Given the description of an element on the screen output the (x, y) to click on. 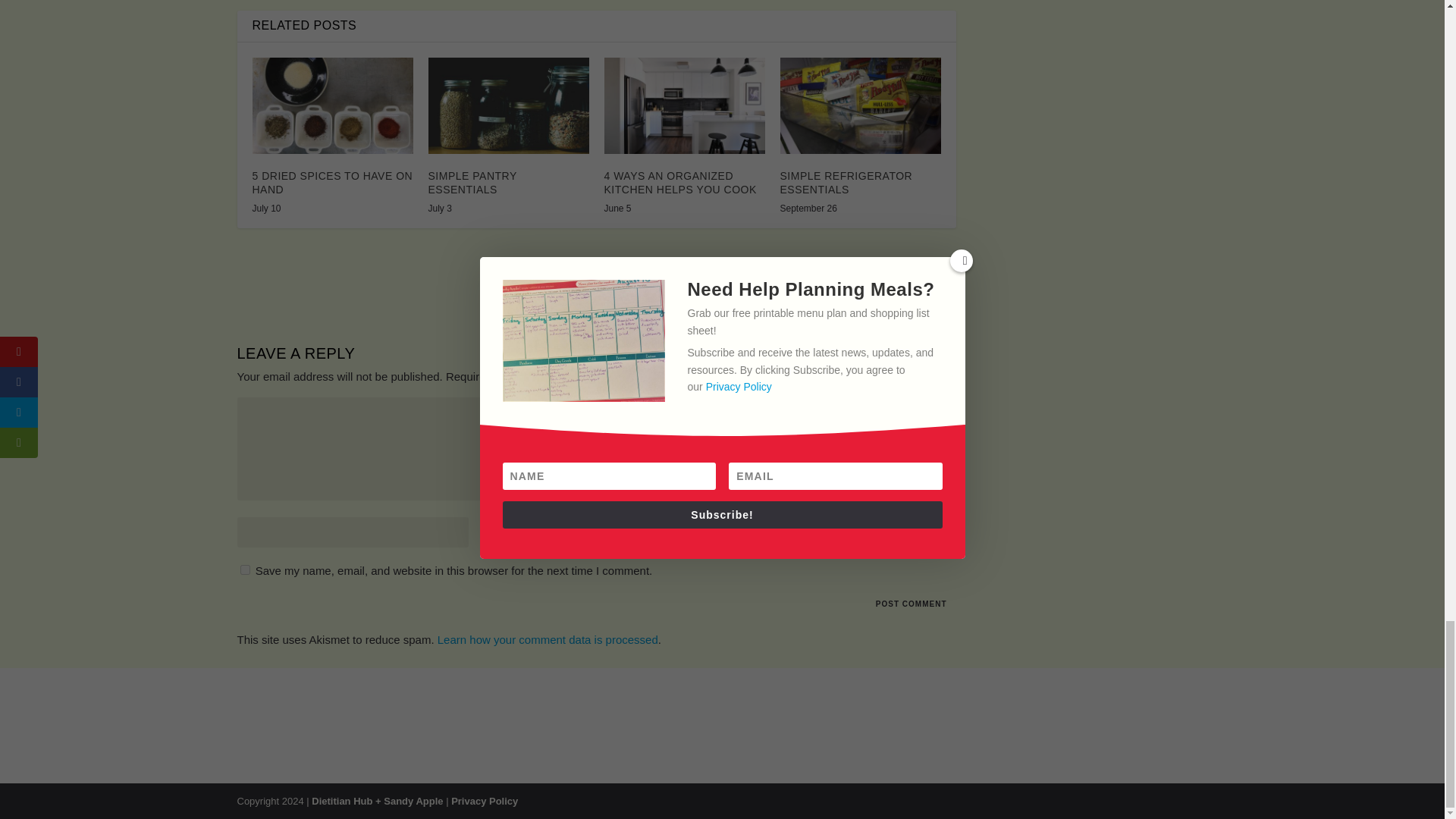
Post Comment (911, 603)
Simple Refrigerator Essentials (859, 105)
5 Dried Spices To Have On Hand (331, 105)
Simple Pantry Essentials (508, 105)
4 Ways an Organized Kitchen Helps You Cook (684, 105)
yes (244, 569)
